Given the description of an element on the screen output the (x, y) to click on. 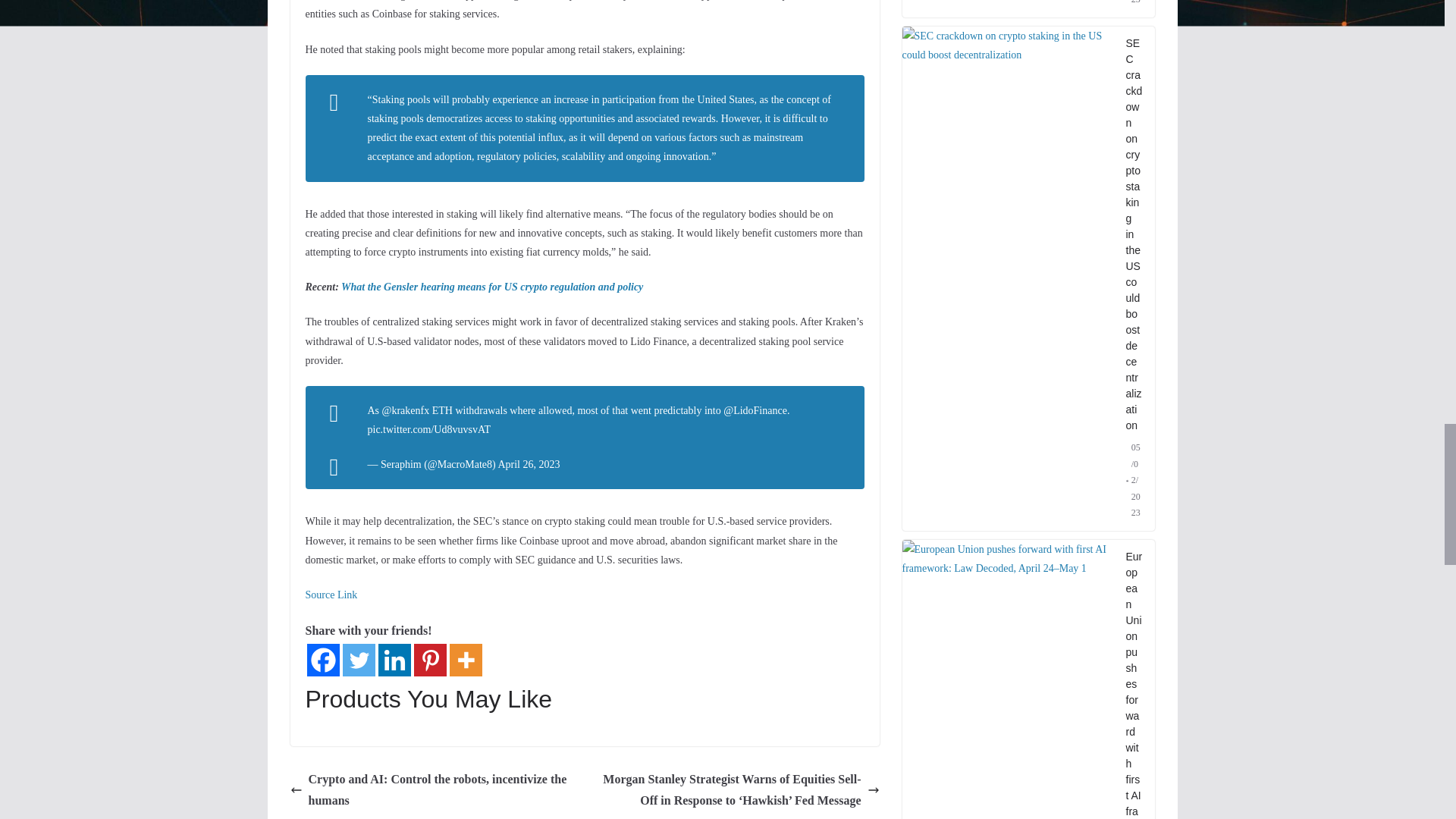
Twitter (358, 659)
Facebook (322, 659)
Source Link (330, 594)
More (464, 659)
Linkedin (393, 659)
Pinterest (429, 659)
April 26, 2023 (528, 464)
